Given the description of an element on the screen output the (x, y) to click on. 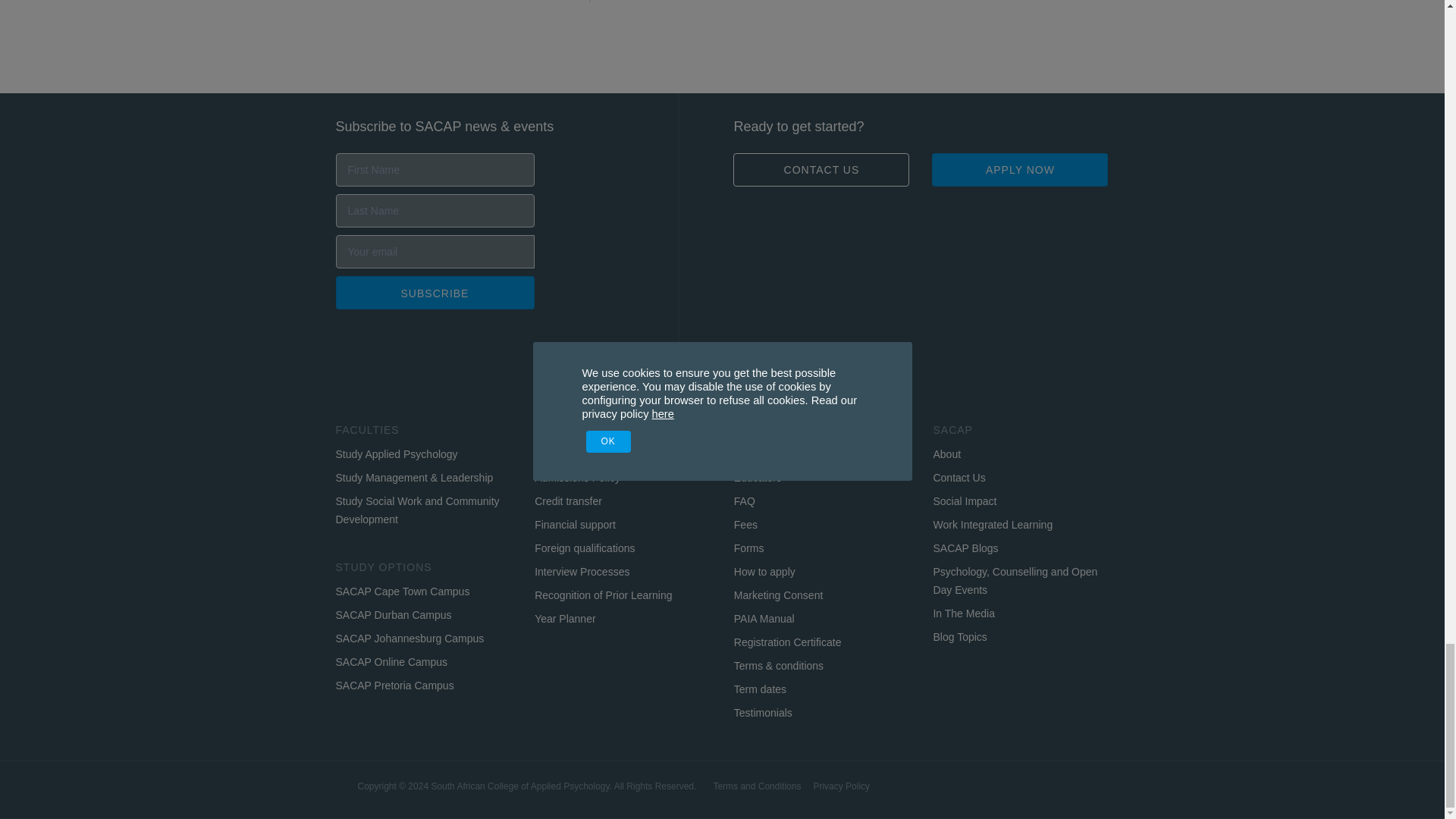
Subscribe (434, 292)
